Given the description of an element on the screen output the (x, y) to click on. 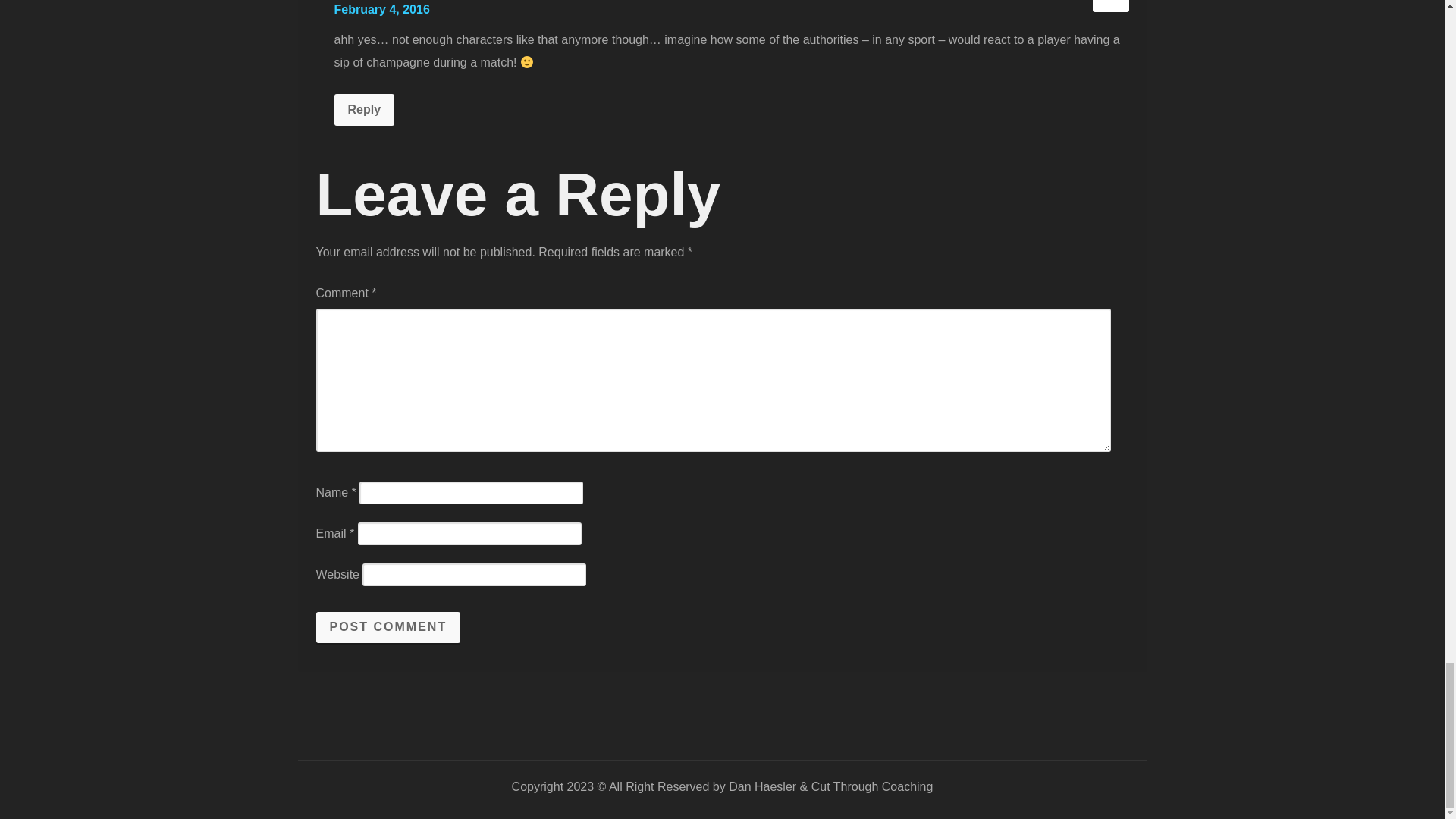
Post Comment (387, 626)
Post Comment (387, 626)
February 4, 2016 (381, 9)
Reply (363, 110)
